Given the description of an element on the screen output the (x, y) to click on. 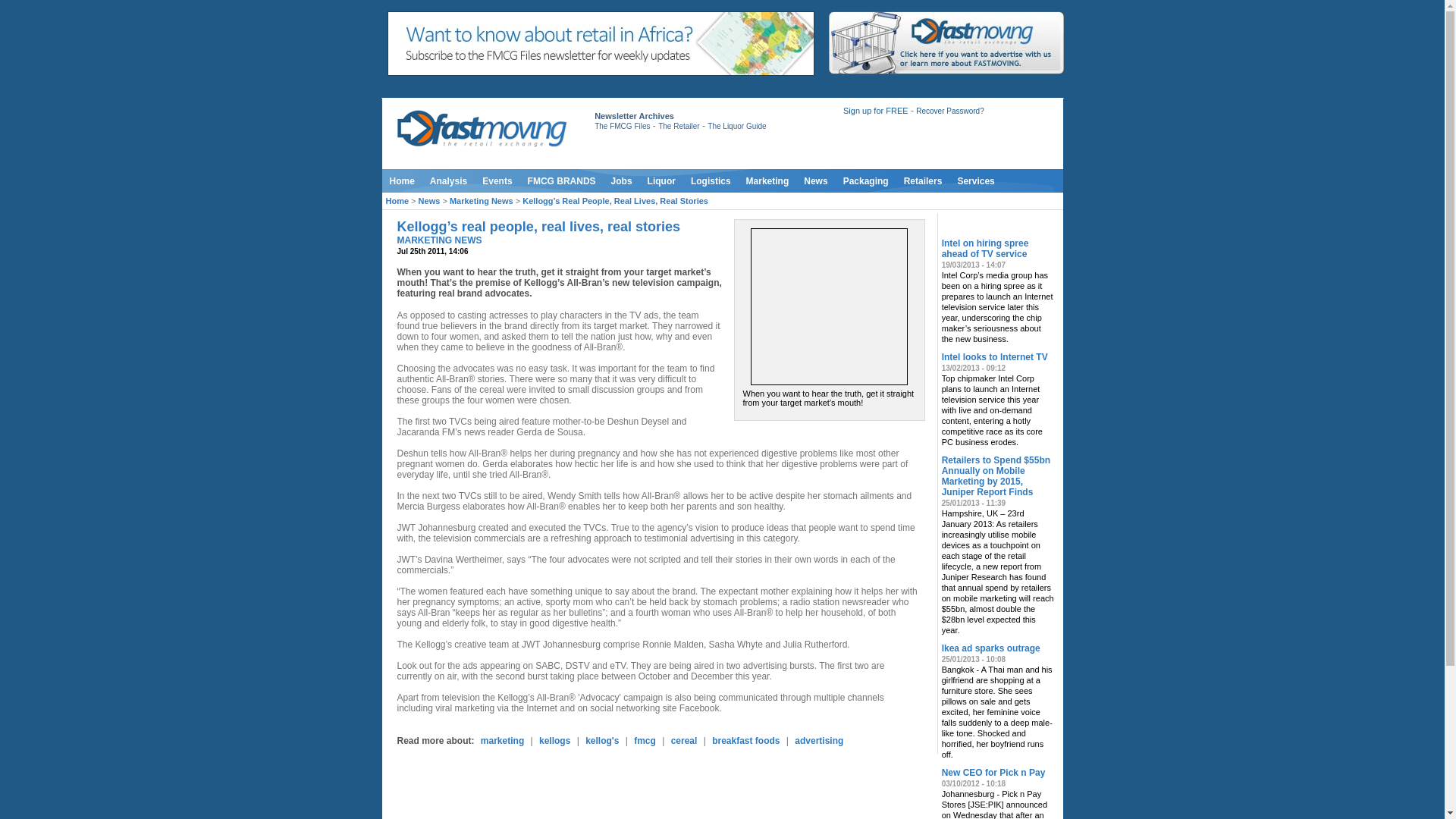
Home (401, 180)
Recover Password? (949, 111)
Analysis (448, 180)
Want to know about retail in Africa?  (600, 43)
Sign up to Fastmoving.co.za (875, 110)
Events (496, 180)
FMCG BRANDS (561, 180)
Click here to contact or advertise with Fastmoving.co.za (945, 42)
The Retailer (678, 126)
Home (401, 180)
The Liquor Guide (736, 126)
The FMCG Files (621, 126)
Click here to recover your account (949, 111)
The Liquor Guide Newsletter (736, 126)
Want to know about retail in Africa?  (600, 72)
